Given the description of an element on the screen output the (x, y) to click on. 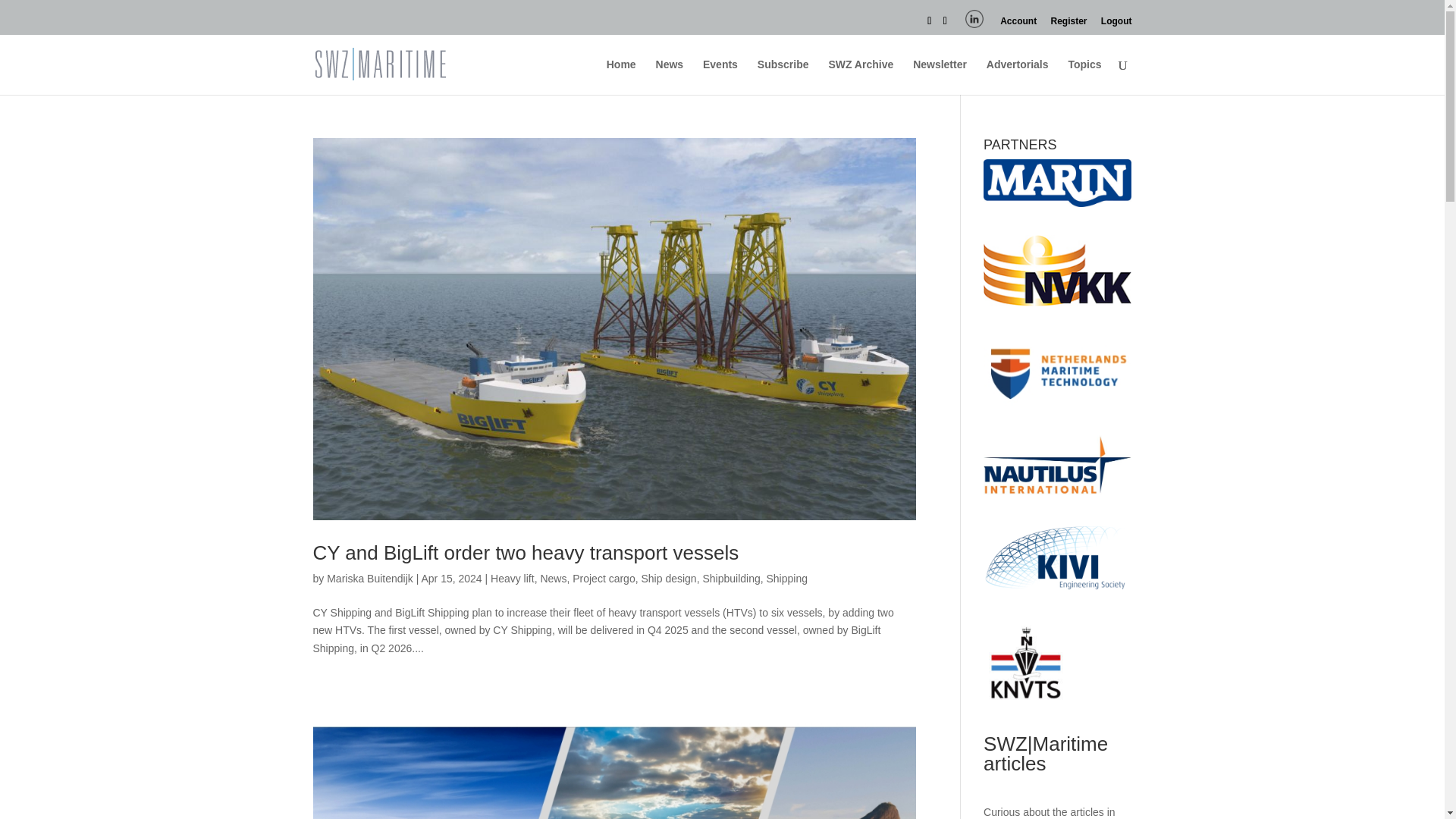
Subscribe (783, 76)
Account (1018, 24)
Topics (1083, 76)
Newsletter (939, 76)
Heavy lift (512, 578)
SWZ Archive (860, 76)
Ship design (667, 578)
Events (720, 76)
CY and BigLift order two heavy transport vessels (525, 552)
Posts by Mariska Buitendijk (369, 578)
Project cargo (603, 578)
PARTNERS (1057, 182)
Advertorials (1017, 76)
Logout (1116, 24)
Mariska Buitendijk (369, 578)
